Given the description of an element on the screen output the (x, y) to click on. 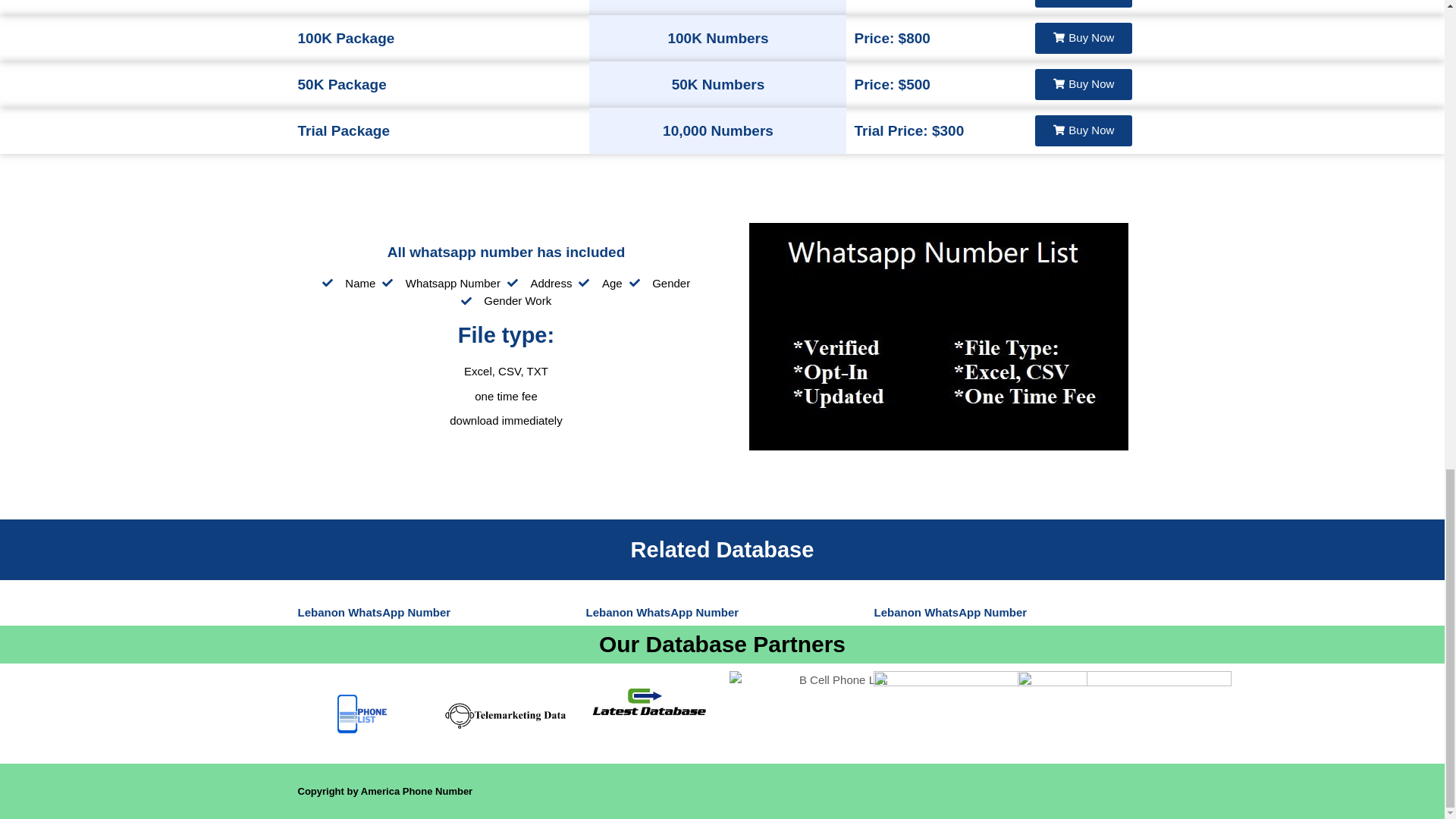
Buy Now (1083, 3)
Lebanon WhatsApp Number (949, 612)
Buy Now (1083, 83)
Buy Now (1083, 38)
Buy Now (1083, 130)
Lebanon WhatsApp Number (661, 612)
Lebanon WhatsApp Number (373, 612)
America Phone Number (416, 790)
